Given the description of an element on the screen output the (x, y) to click on. 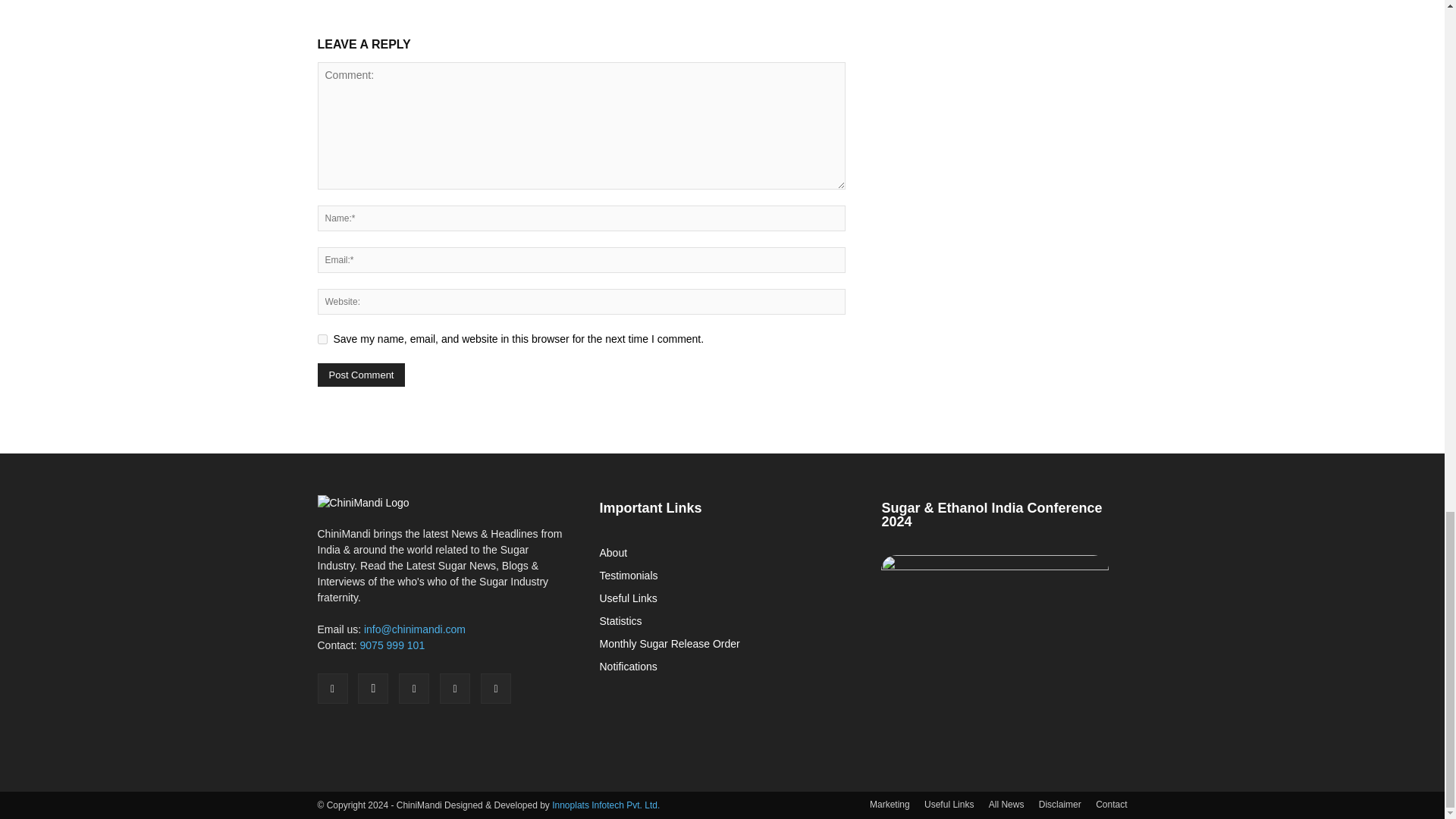
yes (321, 338)
Post Comment (360, 374)
